Given the description of an element on the screen output the (x, y) to click on. 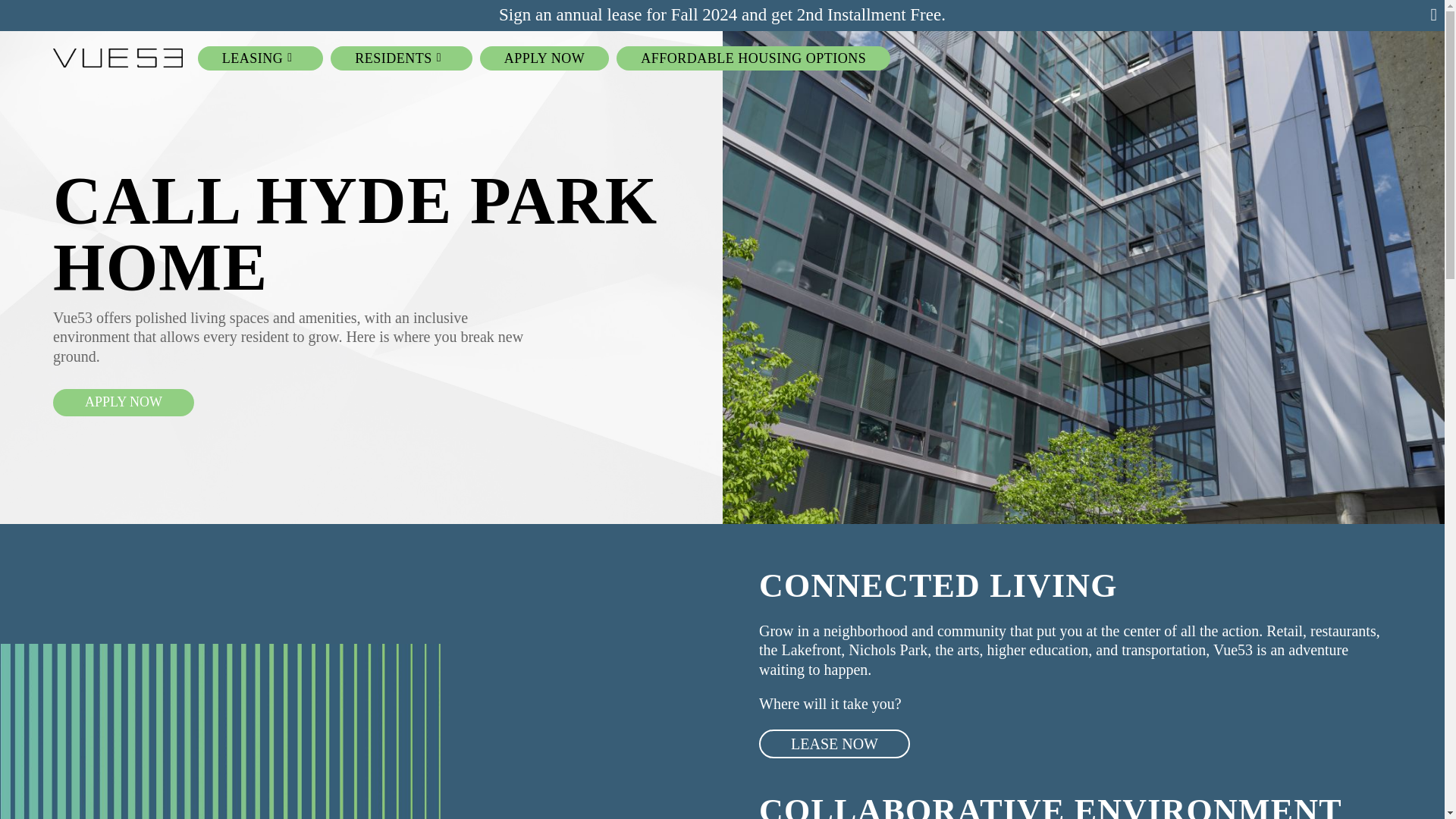
Vue53 Text BLACK (117, 57)
AFFORDABLE HOUSING OPTIONS (753, 57)
APPLY NOW (544, 57)
LEASING (260, 57)
RESIDENTS (401, 57)
